Given the description of an element on the screen output the (x, y) to click on. 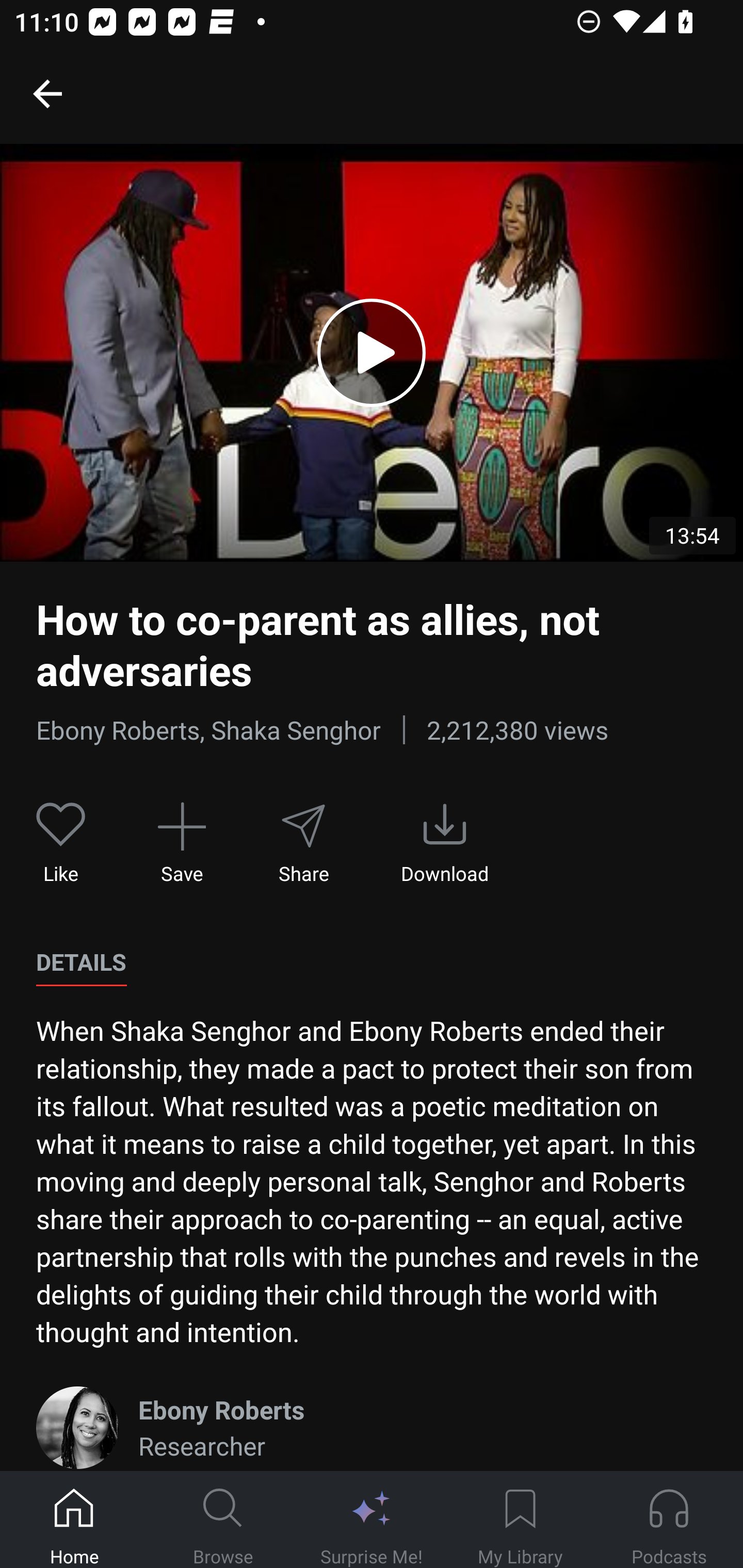
Home, back (47, 92)
Like (60, 843)
Save (181, 843)
Share (302, 843)
Download (444, 843)
DETAILS (80, 962)
Home (74, 1520)
Browse (222, 1520)
Surprise Me! (371, 1520)
My Library (519, 1520)
Podcasts (668, 1520)
